Given the description of an element on the screen output the (x, y) to click on. 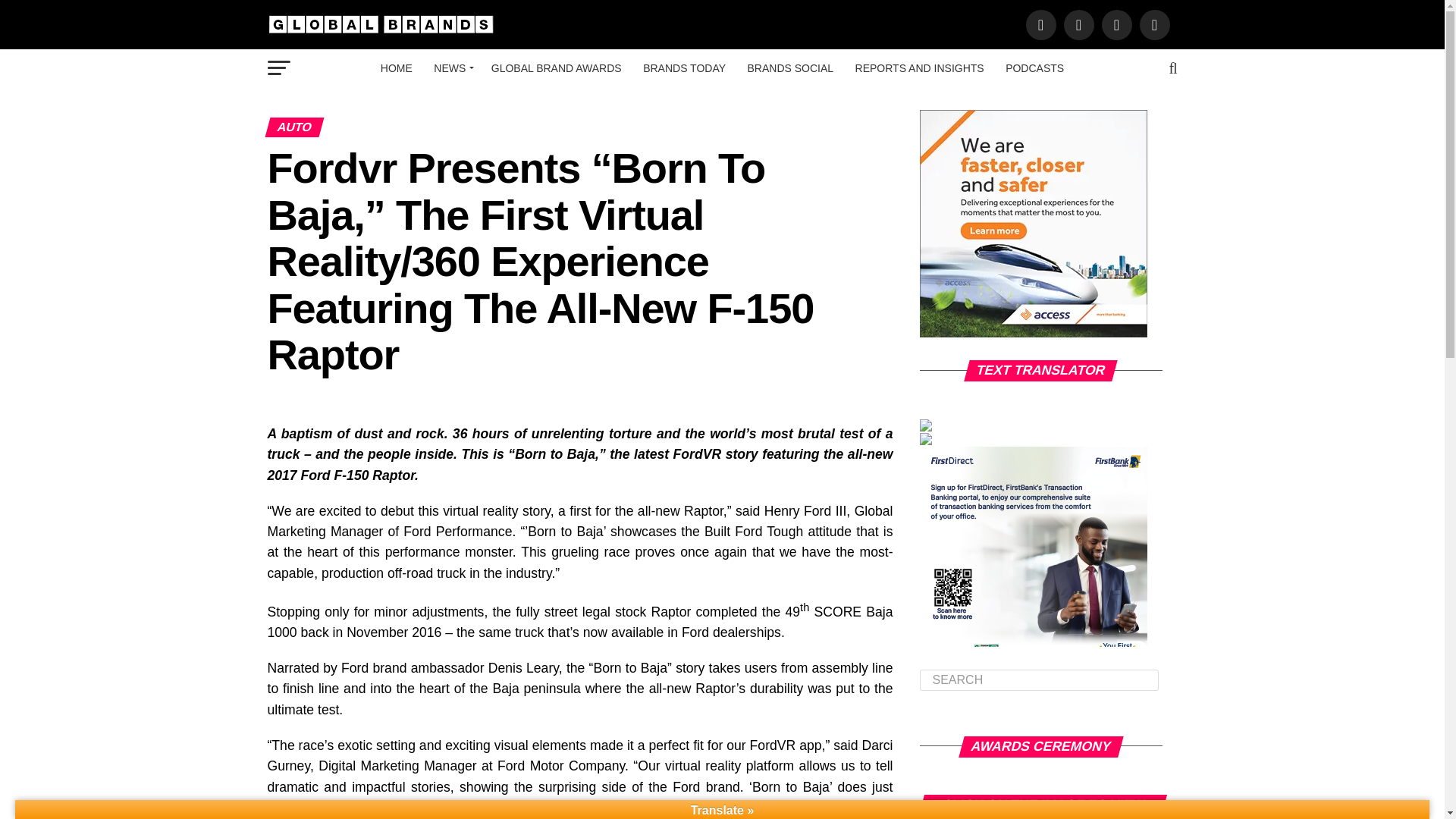
NEWS (452, 67)
HOME (396, 67)
Search (1038, 680)
